Given the description of an element on the screen output the (x, y) to click on. 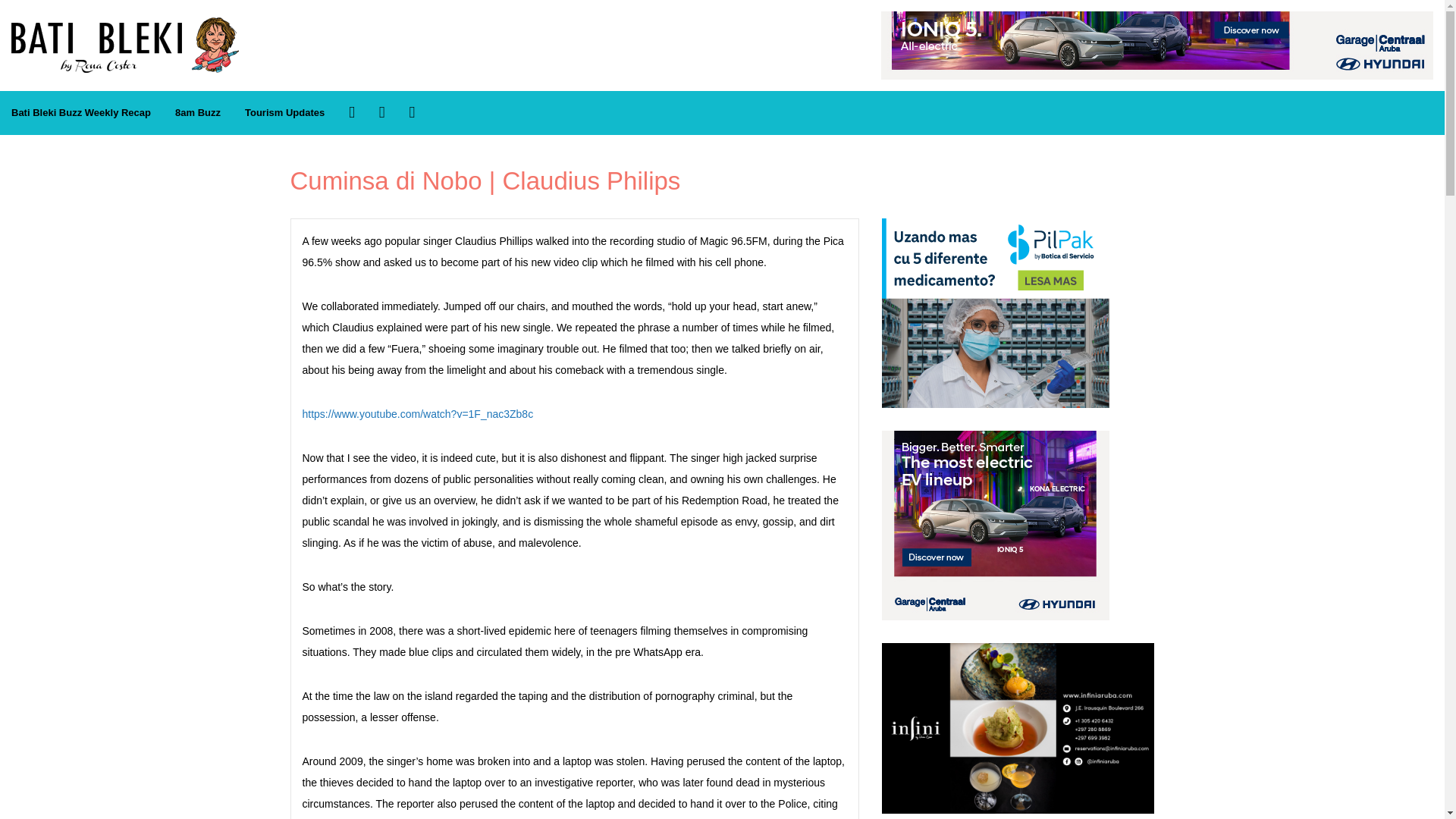
Go to my Facebook Page (351, 112)
Download app in App Store (382, 112)
Bati Bleki Buzz Weekly Recap (80, 112)
Download app in Google Play (411, 112)
Tourism Updates (284, 112)
Go to homepage (124, 25)
8am Buzz (197, 112)
